Given the description of an element on the screen output the (x, y) to click on. 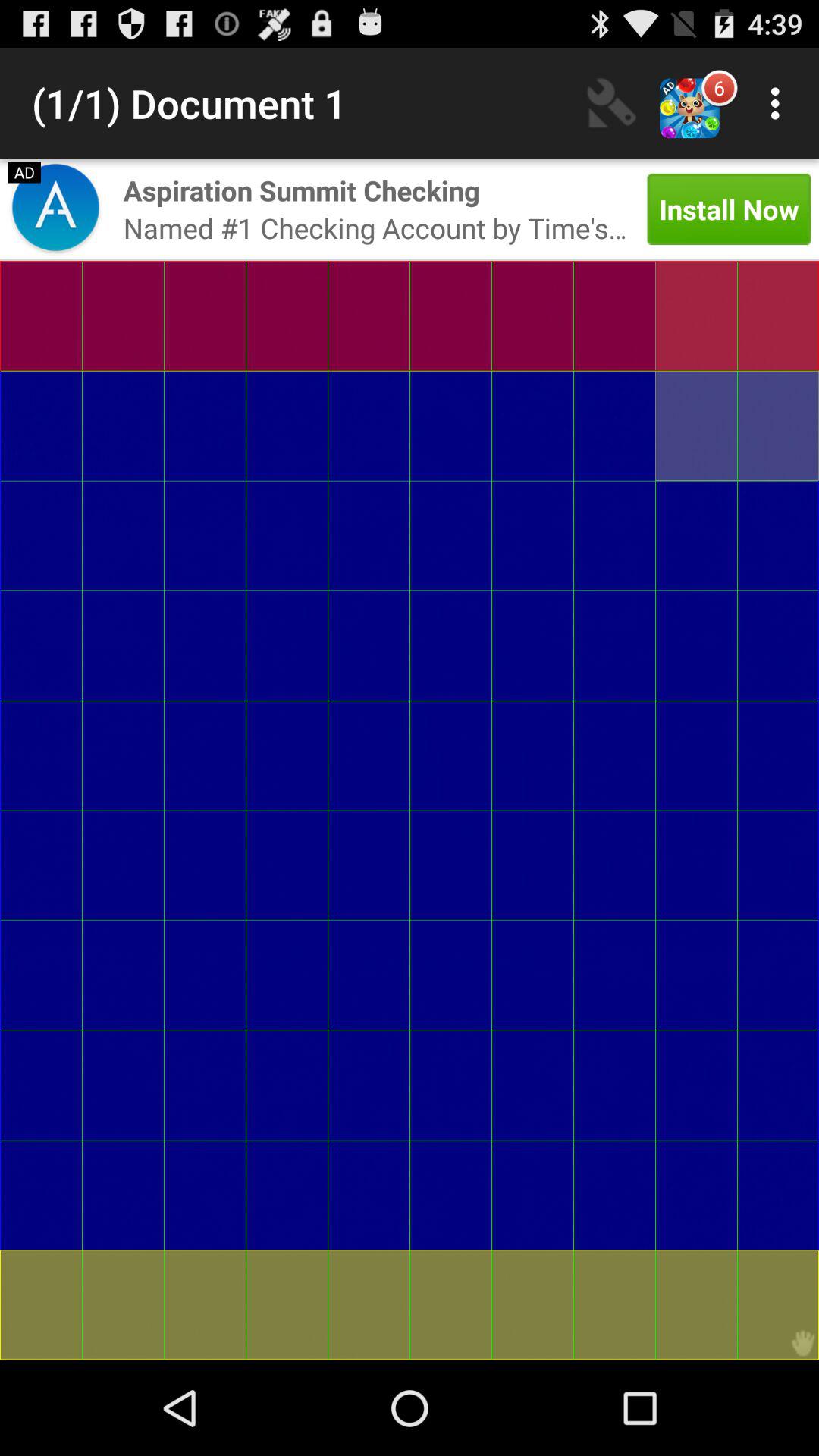
choose item below the 1 1 document icon (301, 190)
